Given the description of an element on the screen output the (x, y) to click on. 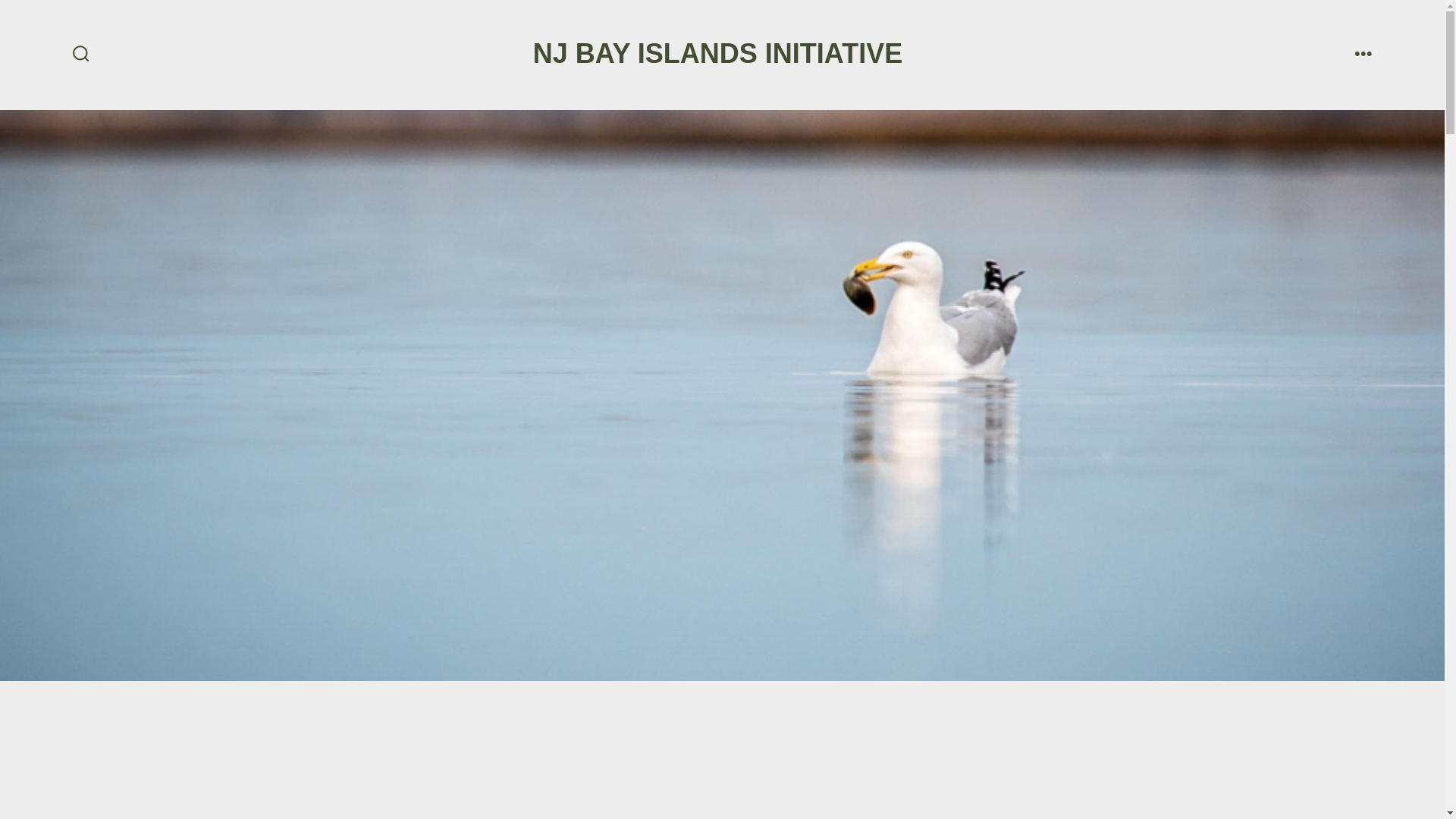
search toggle (81, 54)
menu (1362, 54)
NJ BAY ISLANDS INITIATIVE (717, 54)
